Given the description of an element on the screen output the (x, y) to click on. 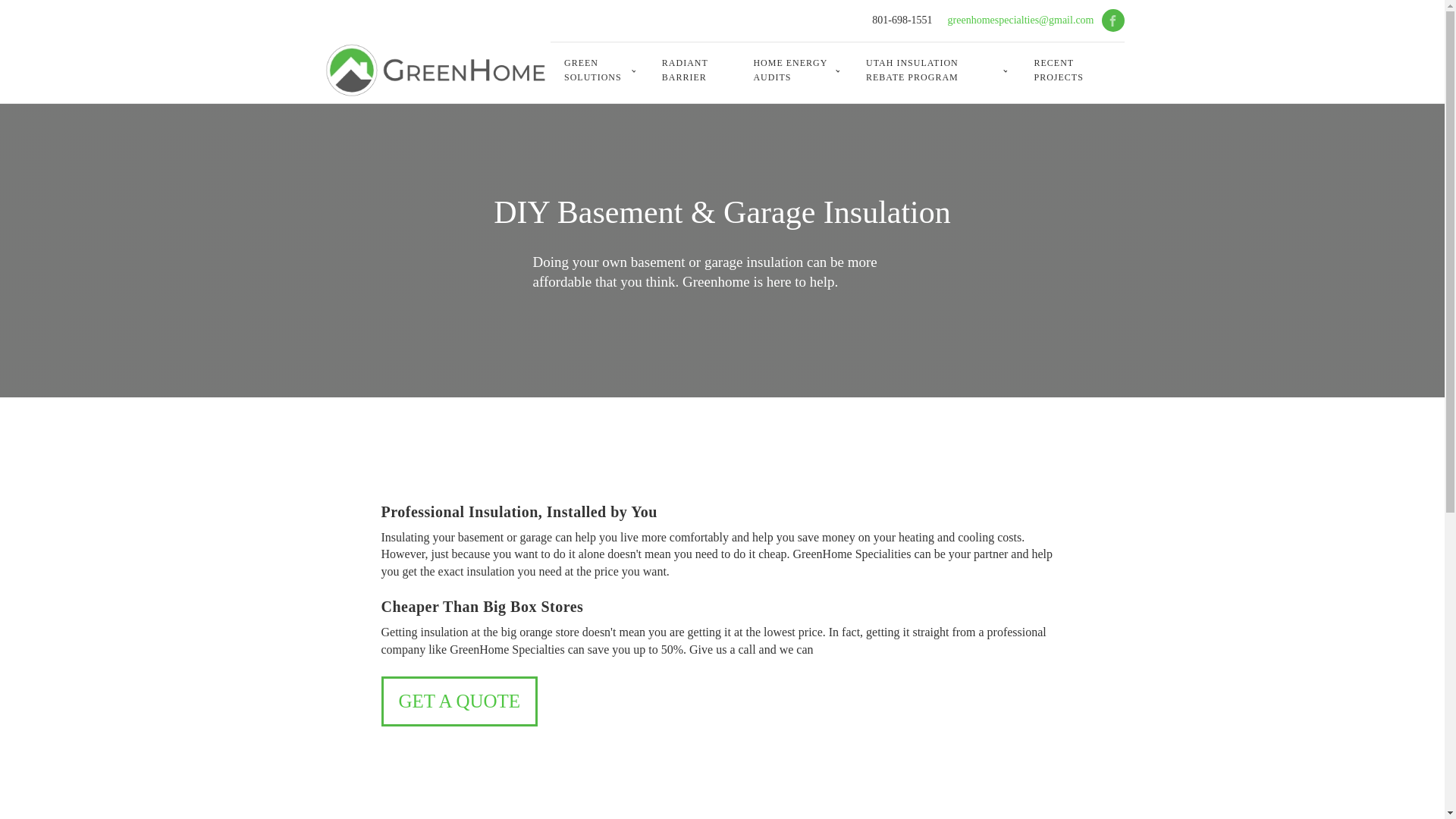
GET A QUOTE (458, 701)
RADIANT BARRIER (693, 70)
GREEN SOLUTIONS (598, 70)
RECENT PROJECTS (1064, 70)
801-698-1551 (901, 20)
HOME ENERGY AUDITS (795, 70)
UTAH INSULATION REBATE PROGRAM (935, 70)
